Given the description of an element on the screen output the (x, y) to click on. 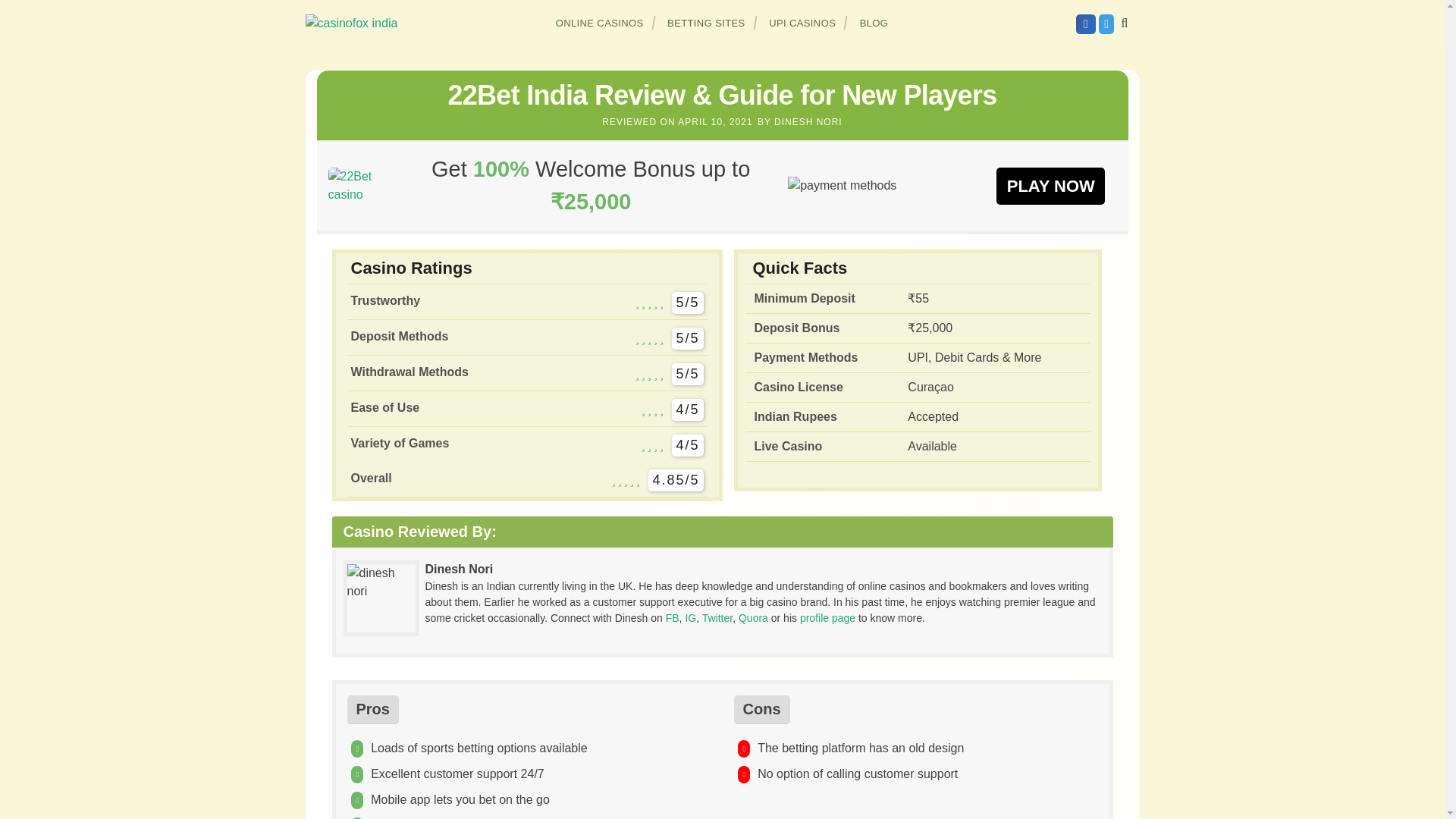
Twitter (716, 617)
22Bet (1050, 185)
ONLINE CASINOS (599, 23)
BETTING SITES (706, 23)
FB (672, 617)
IG (689, 617)
BLOG (874, 23)
22Bet (360, 185)
PLAY NOW (1050, 185)
UPI CASINOS (801, 23)
